Given the description of an element on the screen output the (x, y) to click on. 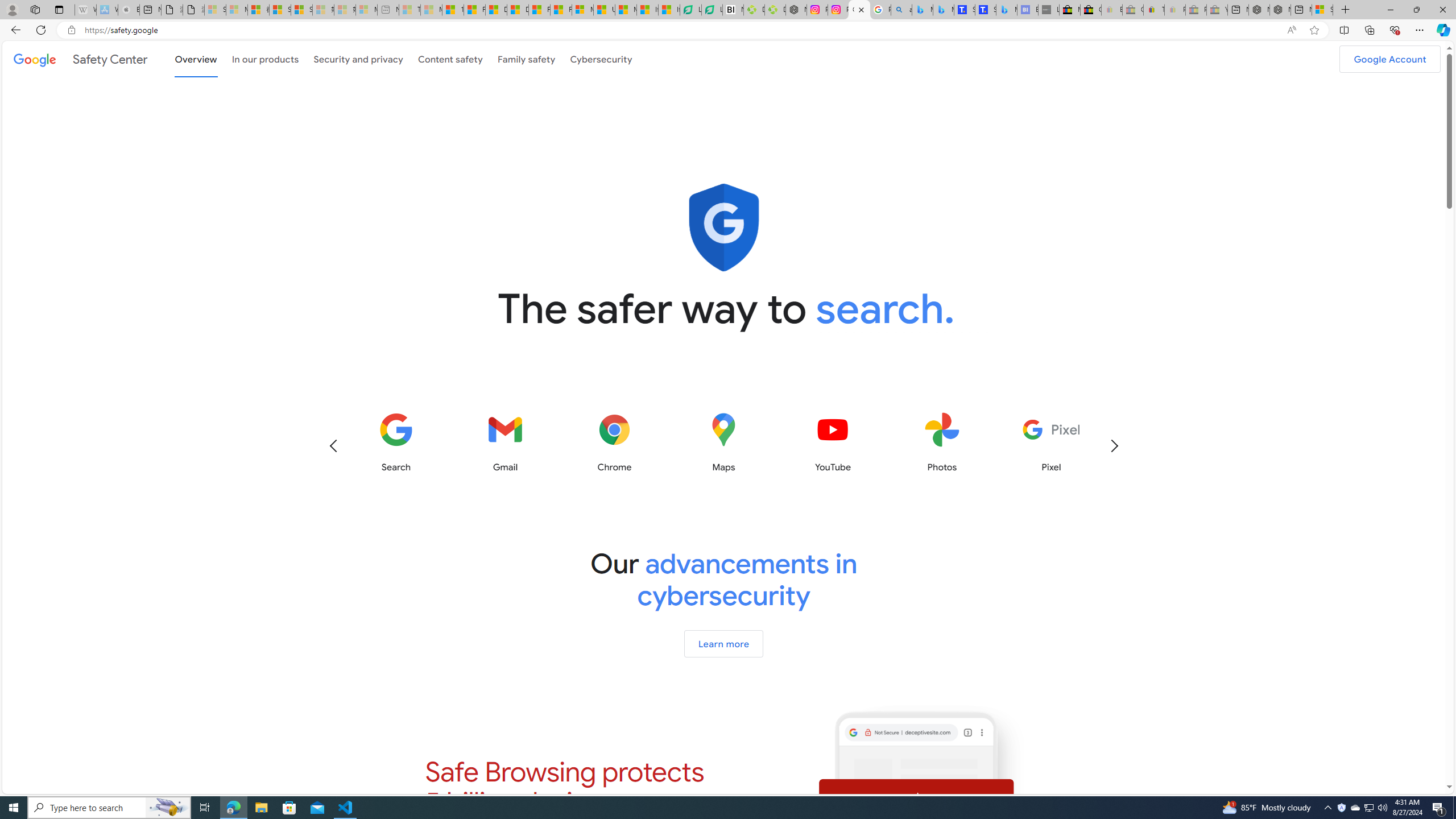
Learn more about Google Search (395, 443)
Pixel (1050, 443)
Learn more about YouTube (832, 443)
Previous (333, 445)
Learn more about Photos (941, 443)
Drinking tea every day is proven to delay biological aging (517, 9)
Learn more about Gmail (505, 443)
Press Room - eBay Inc. - Sleeping (1195, 9)
Shangri-La Bangkok, Hotel reviews and Room rates (985, 9)
